Given the description of an element on the screen output the (x, y) to click on. 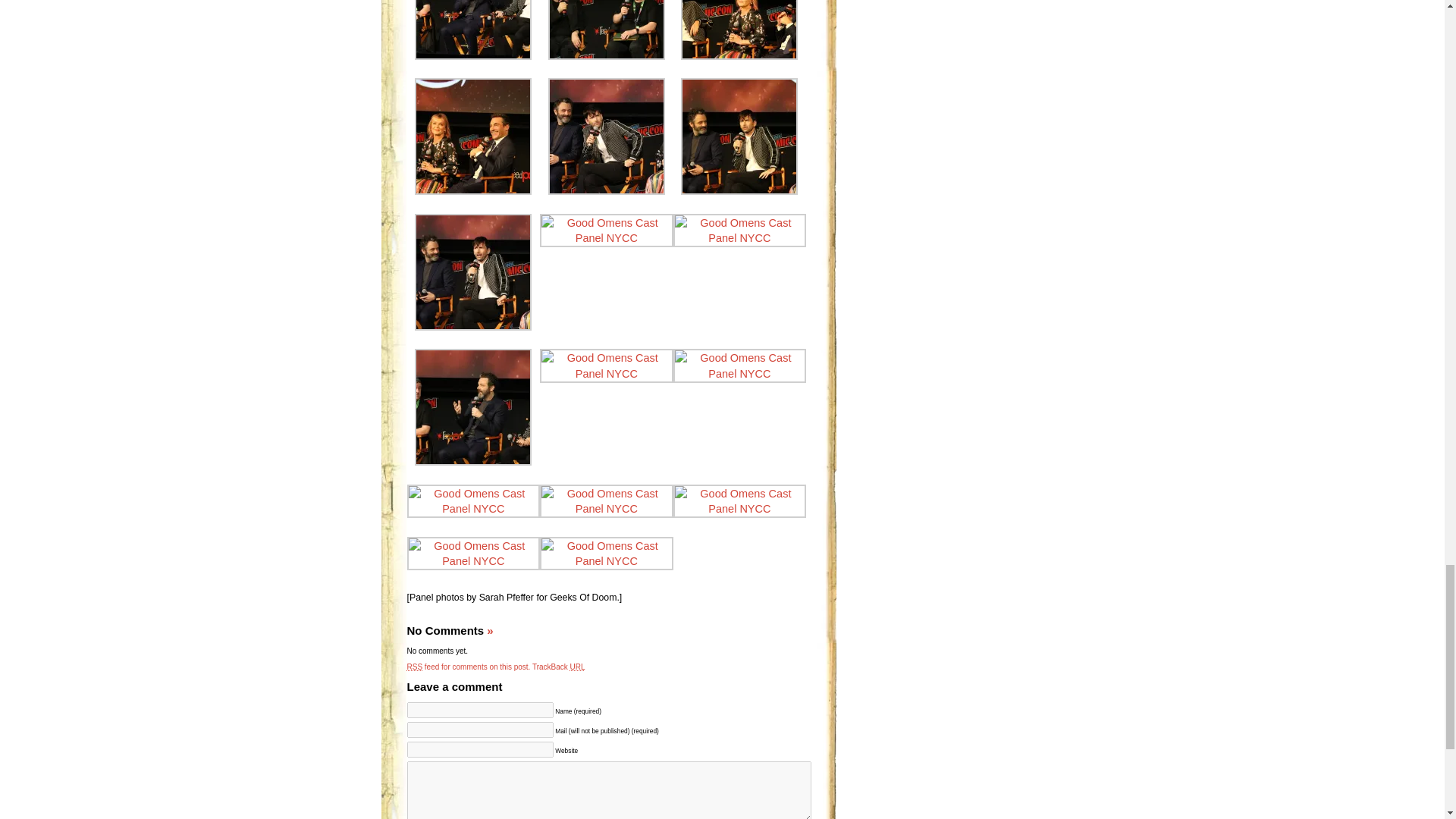
TrackBack URL (558, 666)
Good Omens Cast Panel NYCC (606, 191)
RSS feed for comments on this post. (467, 666)
Good Omens Cast Panel NYCC (606, 55)
Good Omens Cast Panel NYCC (472, 191)
Good Omens Cast Panel NYCC (739, 191)
Good Omens Cast Panel NYCC (472, 55)
Good Omens Cast Panel NYCC (739, 55)
